Given the description of an element on the screen output the (x, y) to click on. 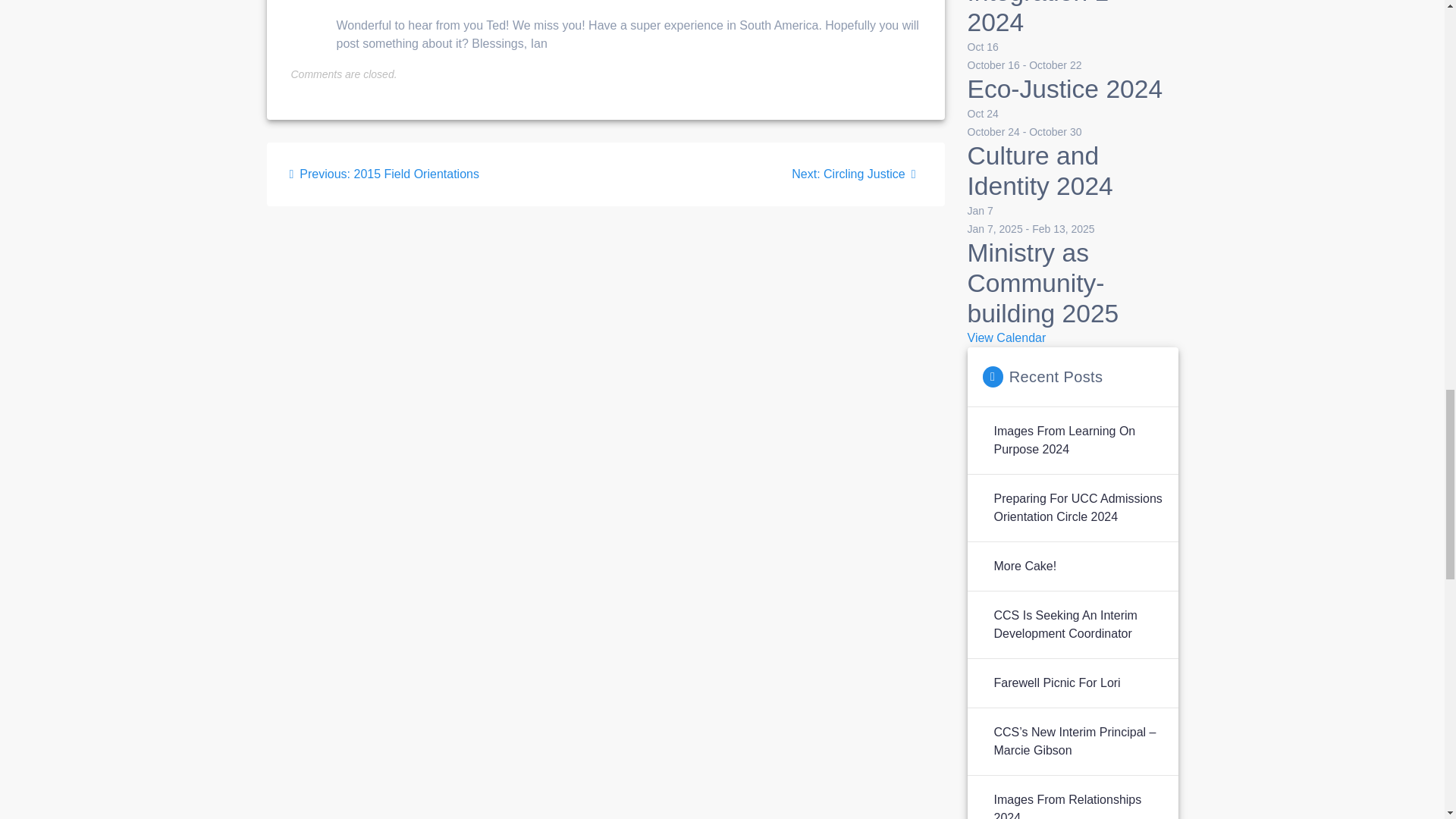
Eco-Justice 2024 (1065, 89)
Culture and Identity 2024 (1040, 170)
Ministry as Community-building 2025 (1043, 283)
